Given the description of an element on the screen output the (x, y) to click on. 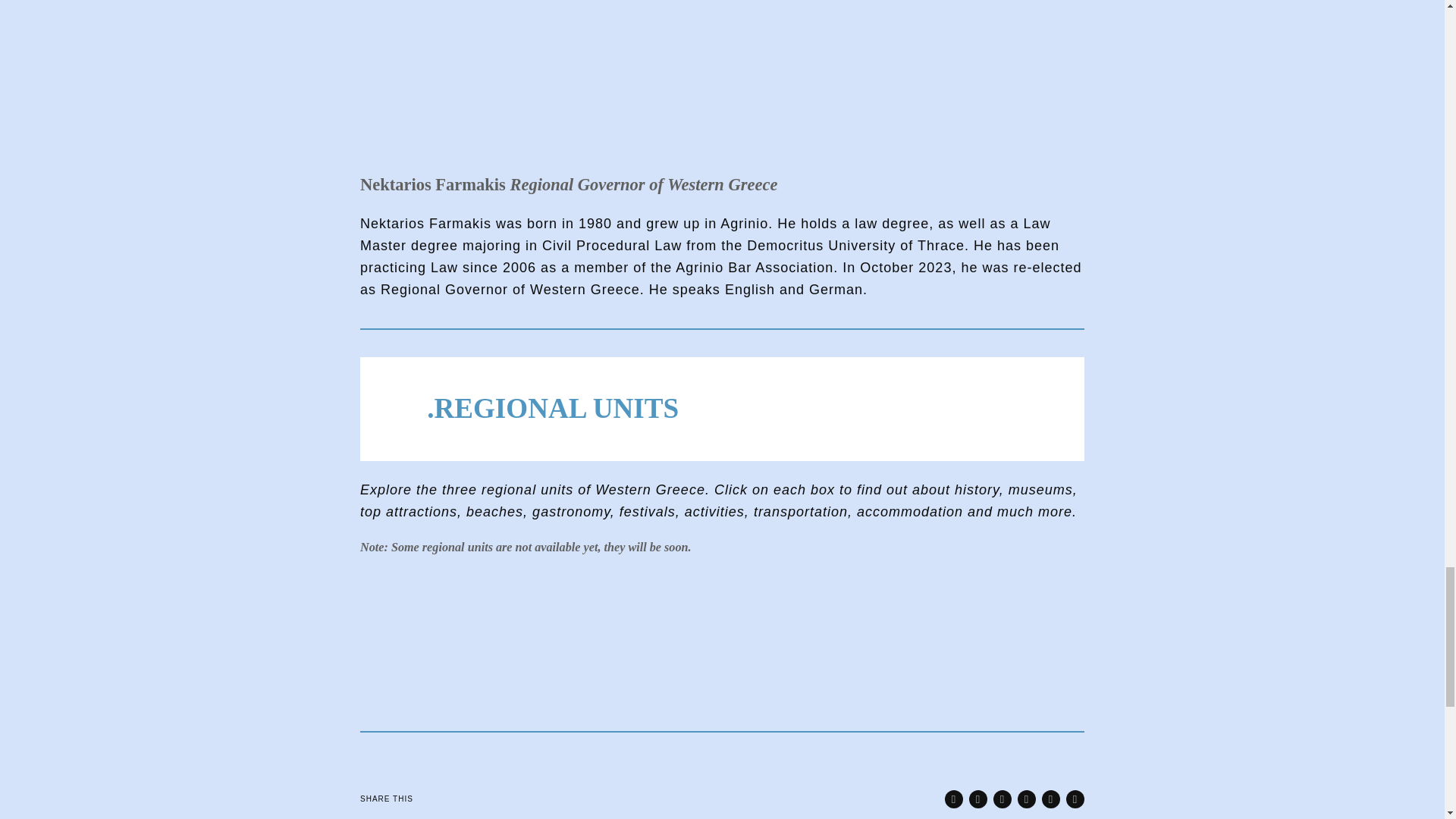
Email (1074, 799)
Twitter (978, 799)
Pinterest (1001, 799)
Facebook (953, 799)
Linkedin (1026, 799)
Whatsapp (1050, 799)
